Given the description of an element on the screen output the (x, y) to click on. 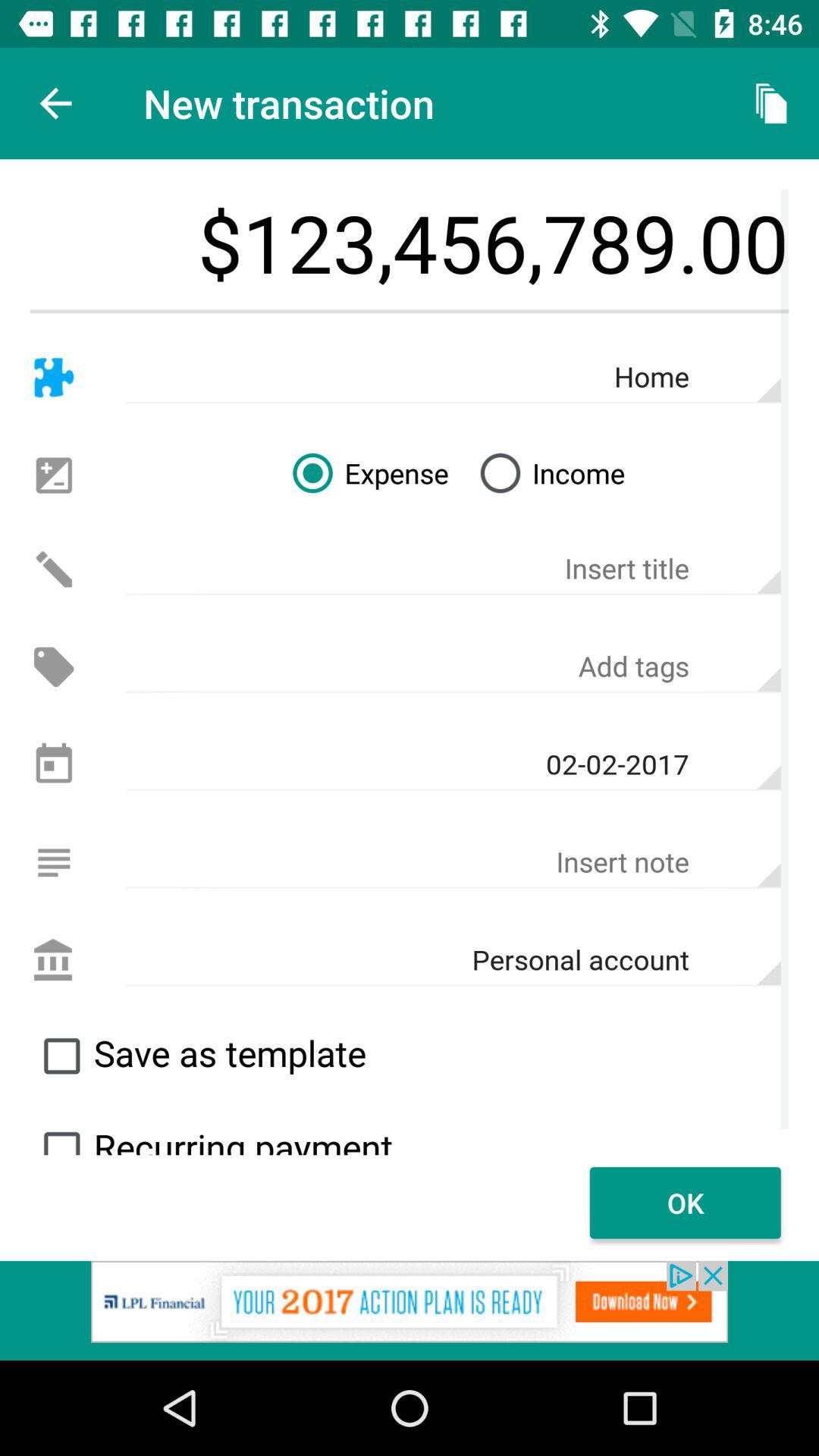
add tage (452, 666)
